Given the description of an element on the screen output the (x, y) to click on. 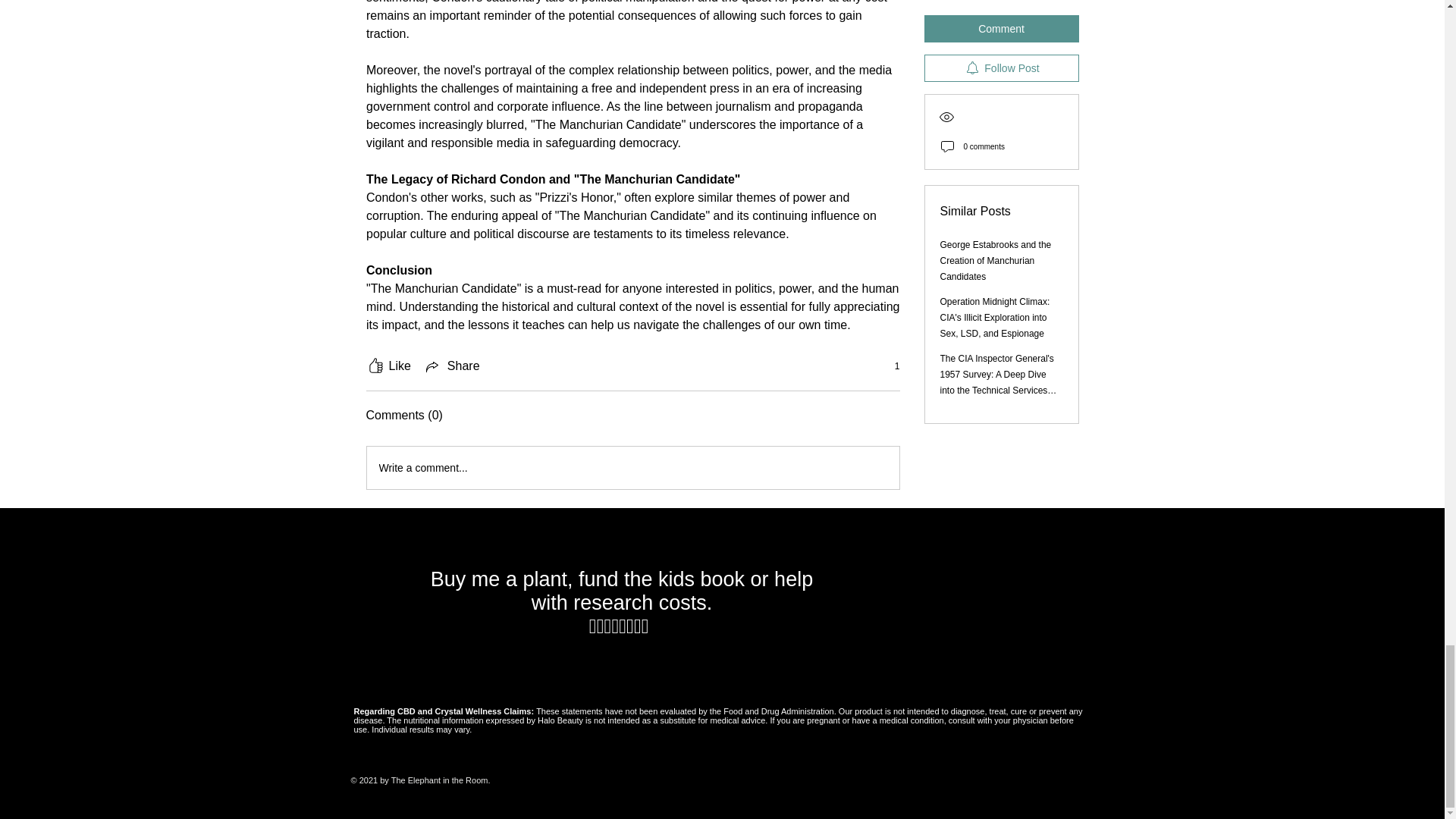
1 (888, 366)
Share (451, 366)
Like (387, 366)
Write a comment... (632, 467)
